Given the description of an element on the screen output the (x, y) to click on. 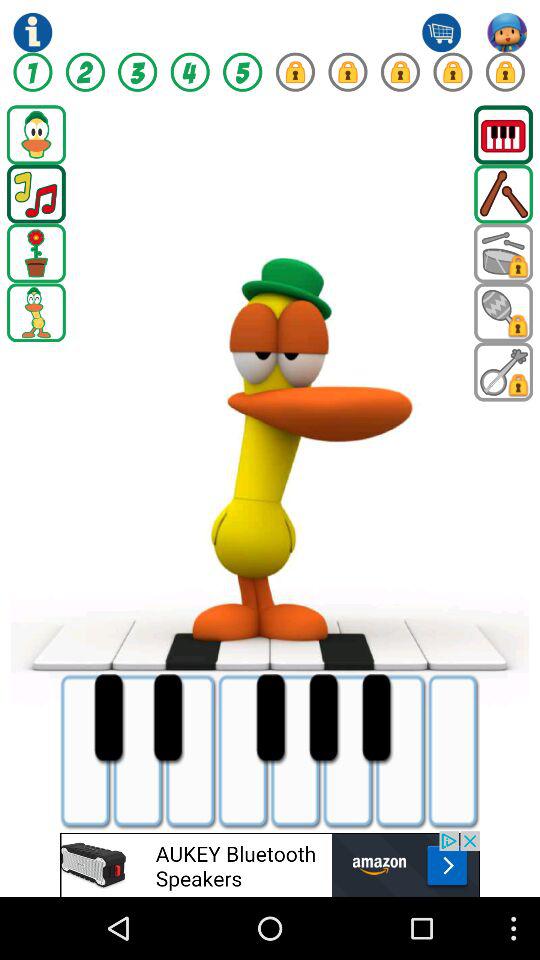
play music (36, 193)
